Given the description of an element on the screen output the (x, y) to click on. 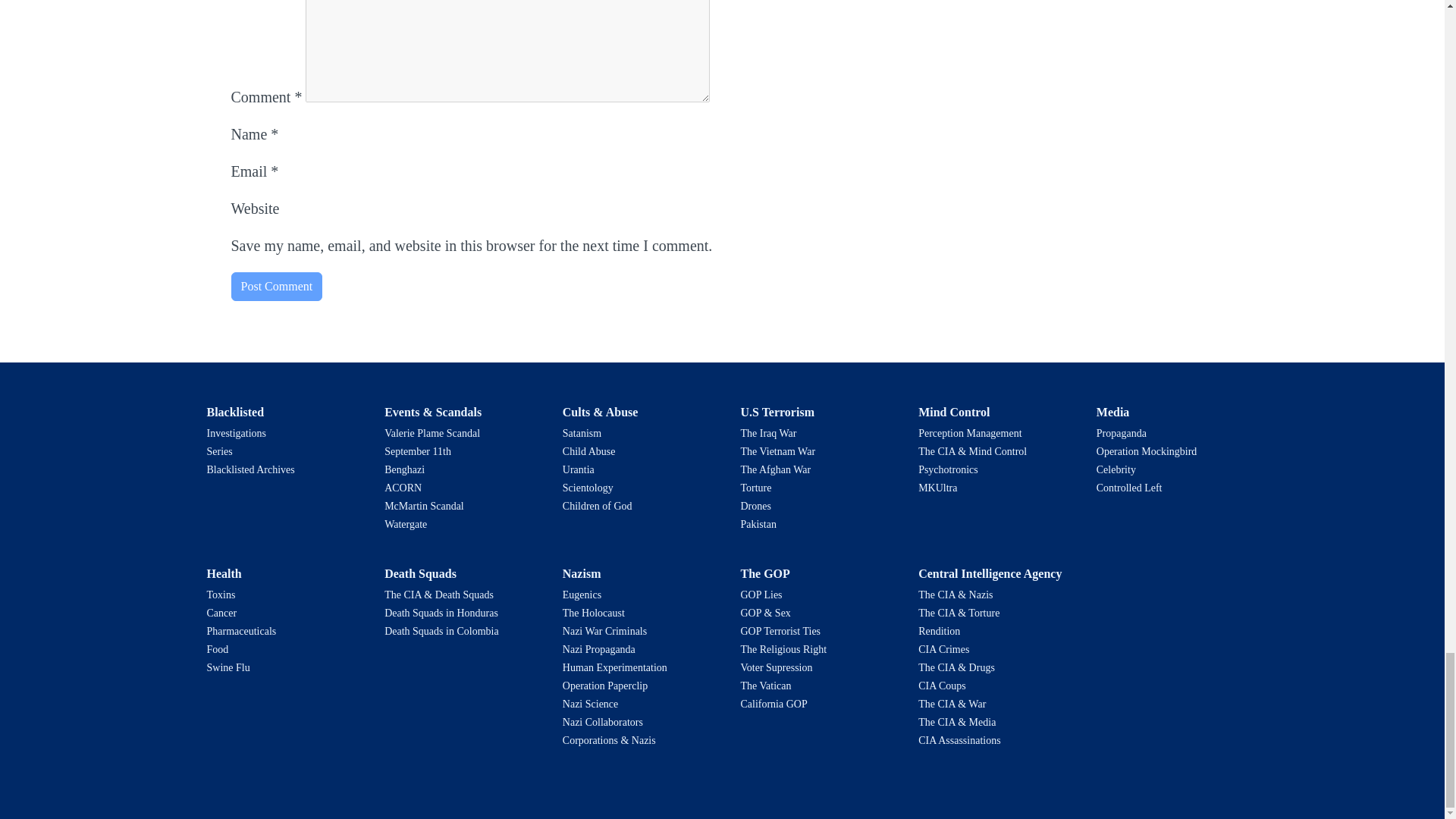
Post Comment (275, 286)
